Given the description of an element on the screen output the (x, y) to click on. 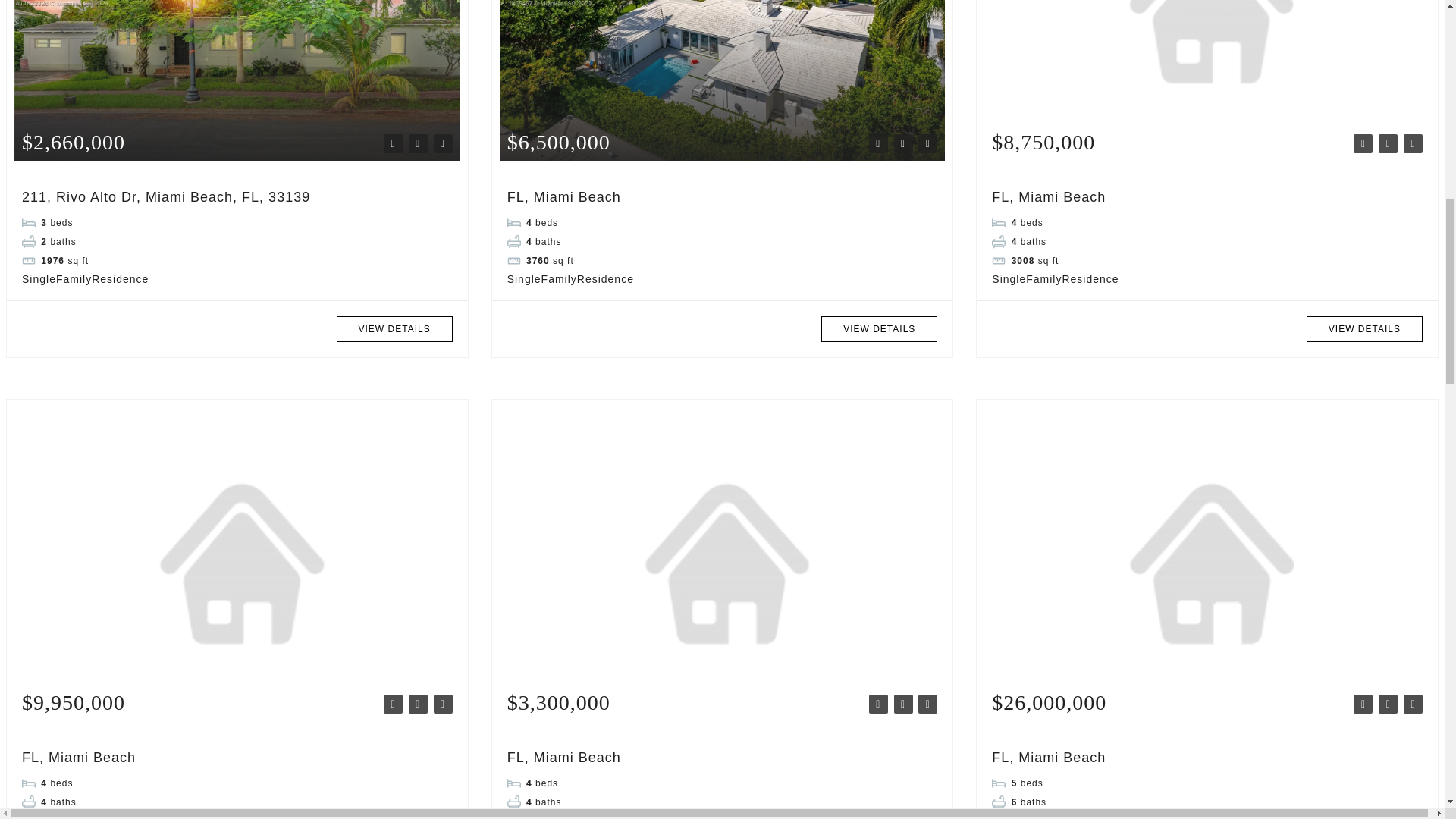
SingleFamilyResidence (1054, 278)
SingleFamilyResidence (569, 278)
VIEW DETAILS (879, 329)
FL, Miami Beach (1048, 196)
FL, Miami Beach (563, 196)
SingleFamilyResidence (84, 278)
211, Rivo Alto Dr, Miami Beach, FL, 33139 (165, 196)
VIEW DETAILS (394, 329)
VIEW DETAILS (1364, 329)
